Given the description of an element on the screen output the (x, y) to click on. 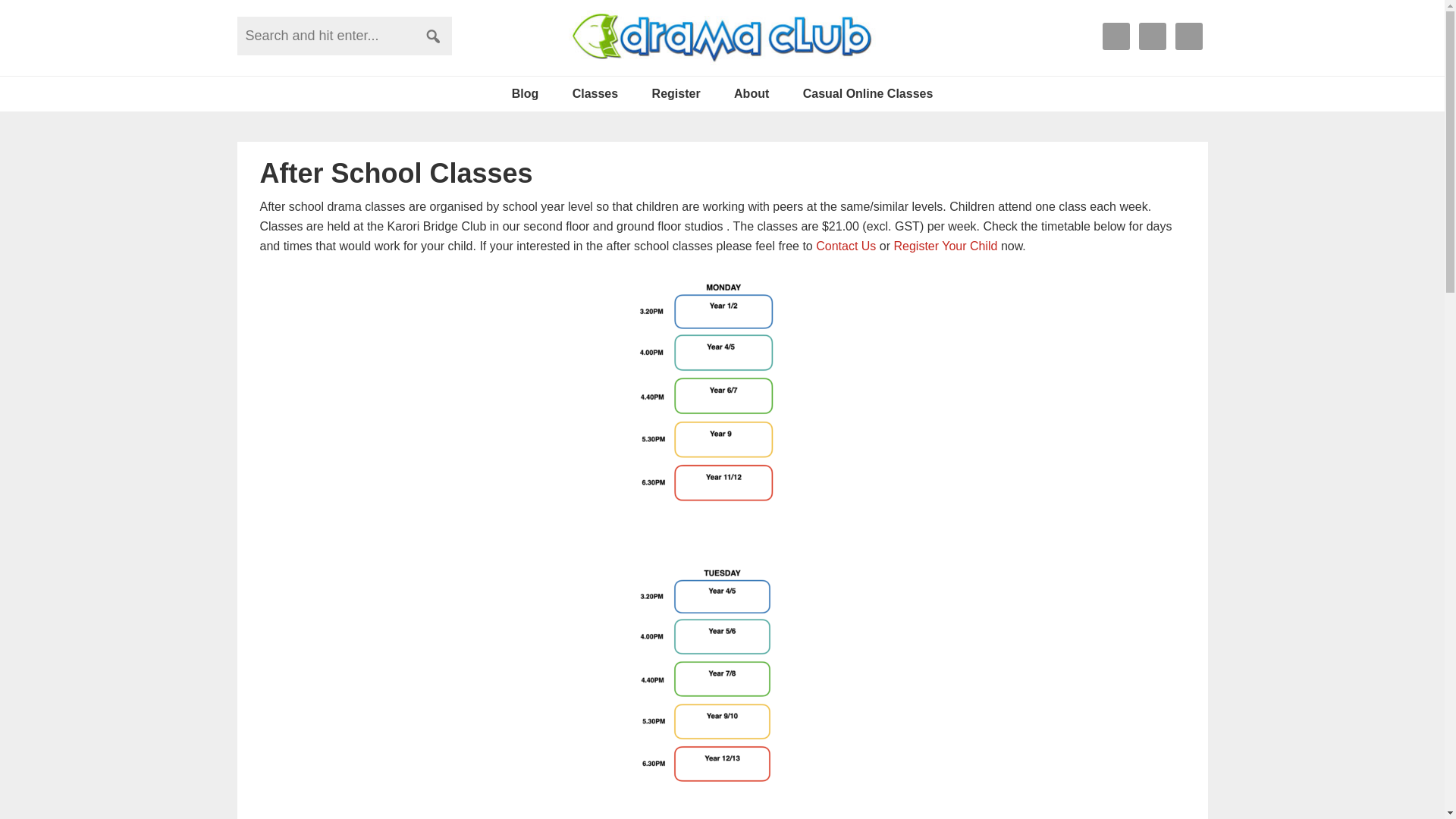
Search and hit enter... (343, 35)
Blog (525, 93)
Contact Us (845, 245)
About (751, 93)
Casual Online Classes (868, 93)
Register Your Child (945, 245)
Register (676, 93)
Search (432, 36)
Drama Club (722, 37)
